Given the description of an element on the screen output the (x, y) to click on. 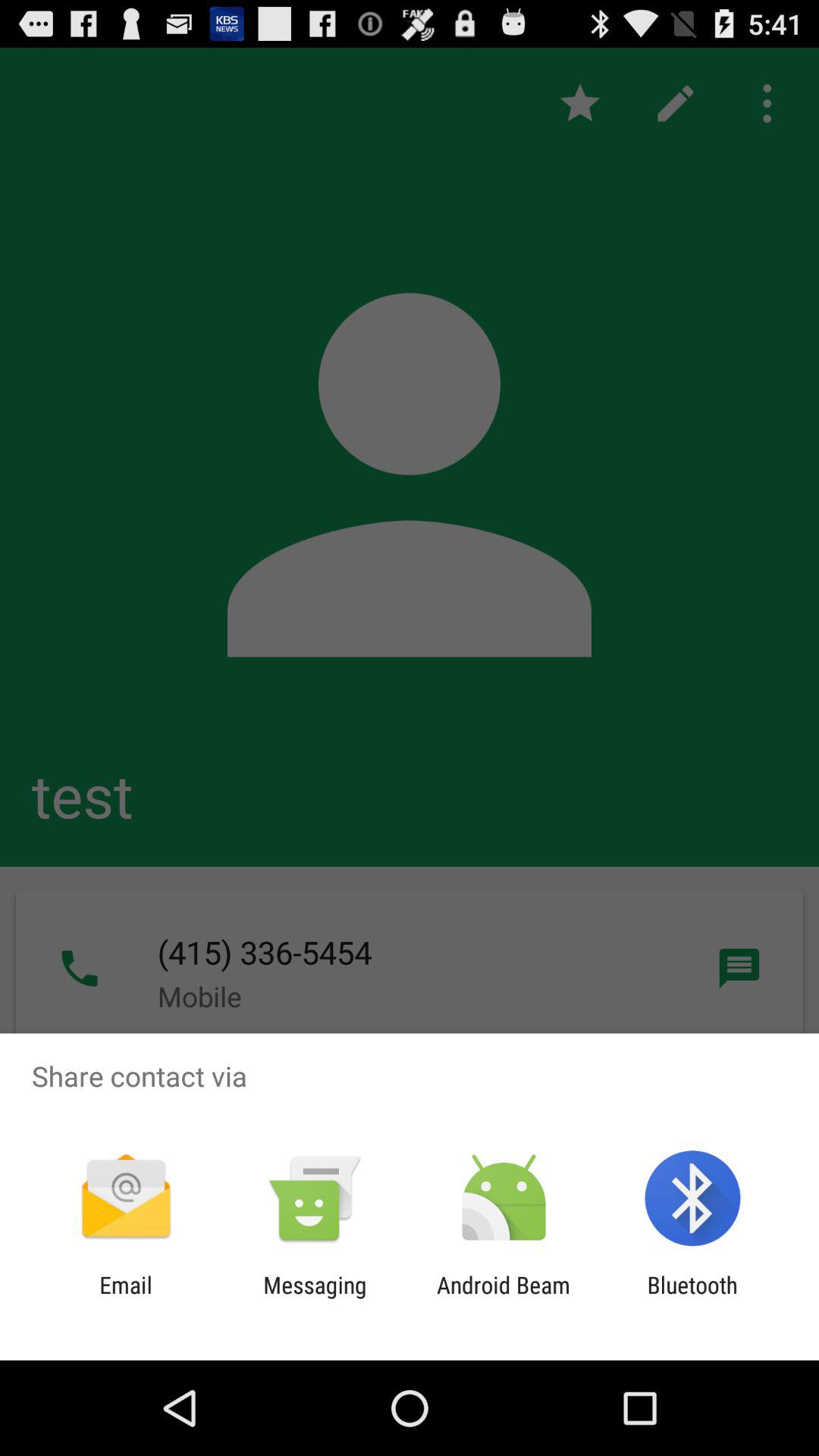
tap app next to messaging item (503, 1298)
